Given the description of an element on the screen output the (x, y) to click on. 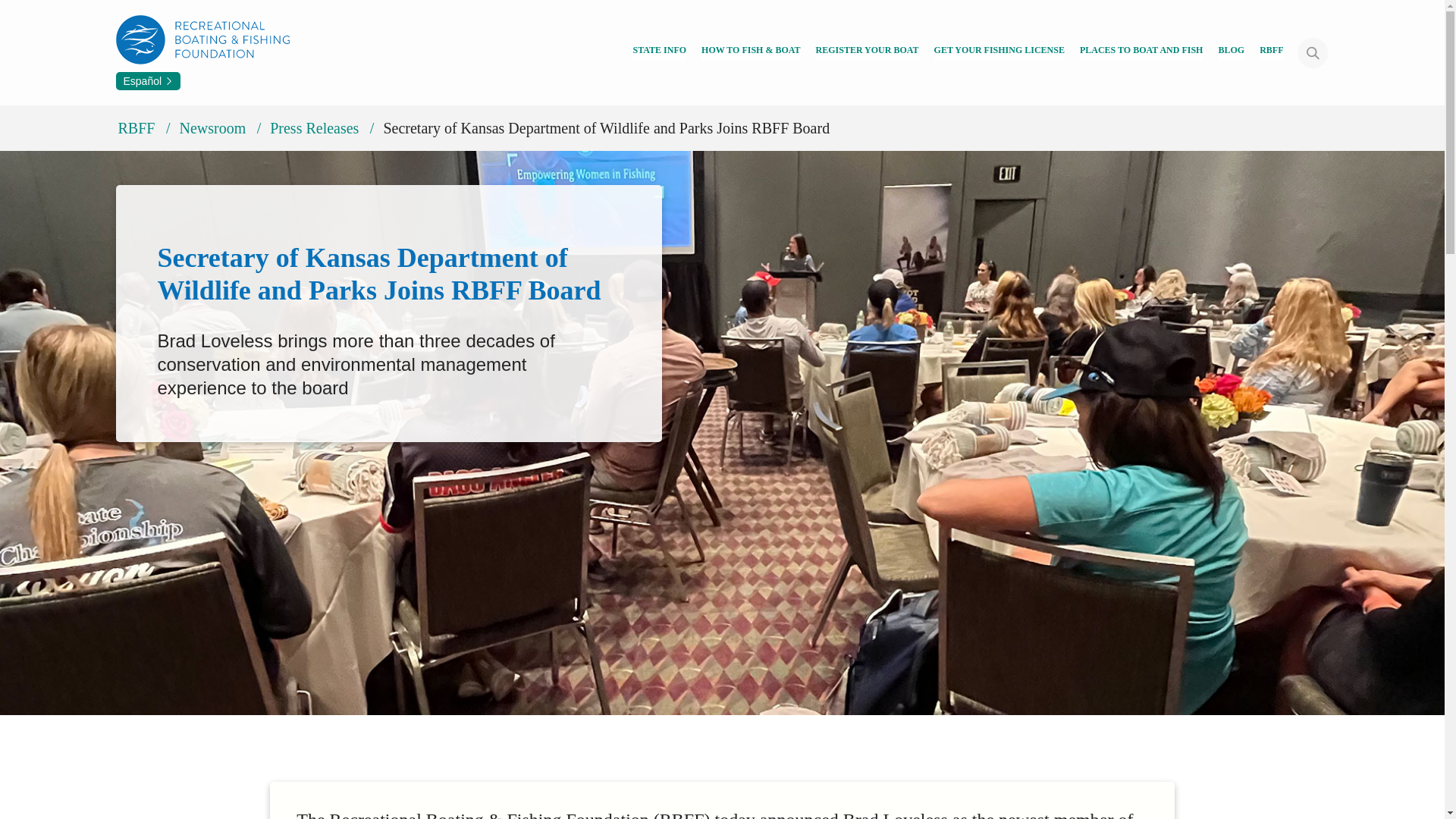
BLOG (1230, 51)
RBFF (1270, 51)
Register Your Boat (866, 51)
Blog (1230, 51)
Places To Boat And Fish (1142, 51)
RBFF (1270, 51)
REGISTER YOUR BOAT (866, 51)
Get Your Fishing License (999, 51)
GET YOUR FISHING LICENSE (999, 51)
PLACES TO BOAT AND FISH (1142, 51)
